Given the description of an element on the screen output the (x, y) to click on. 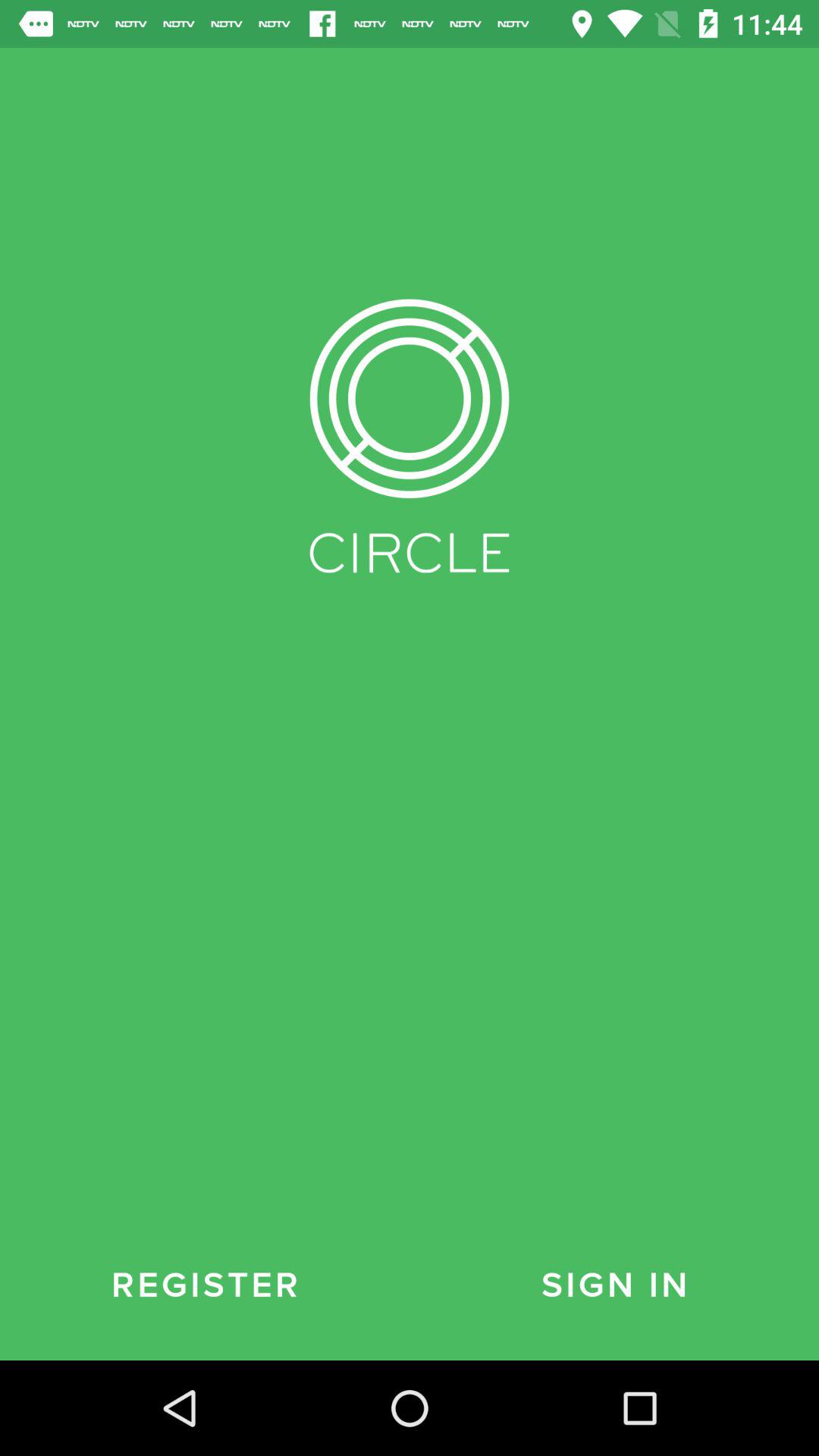
jump until sign in (614, 1285)
